Given the description of an element on the screen output the (x, y) to click on. 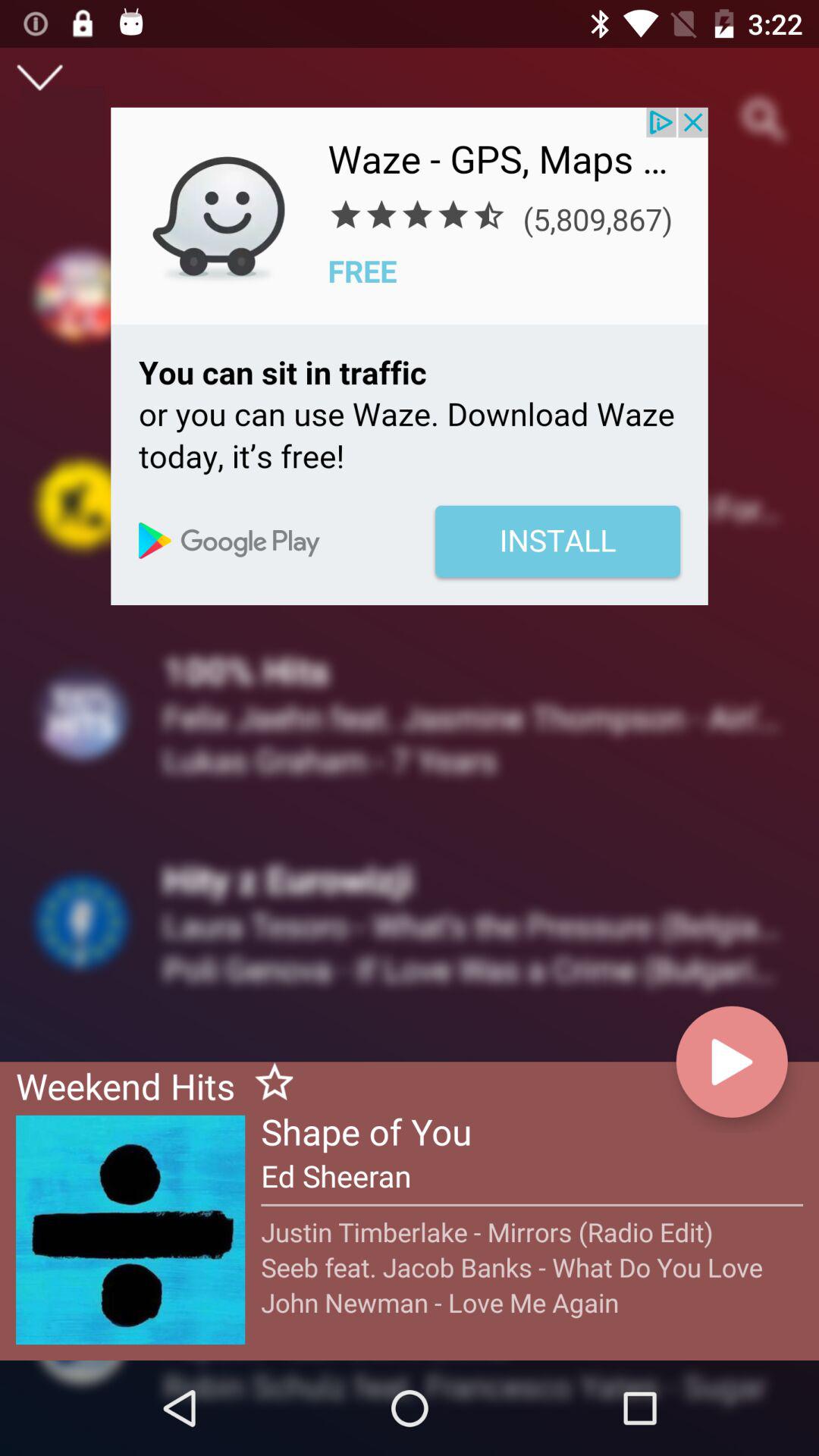
open advertisement (409, 356)
